Given the description of an element on the screen output the (x, y) to click on. 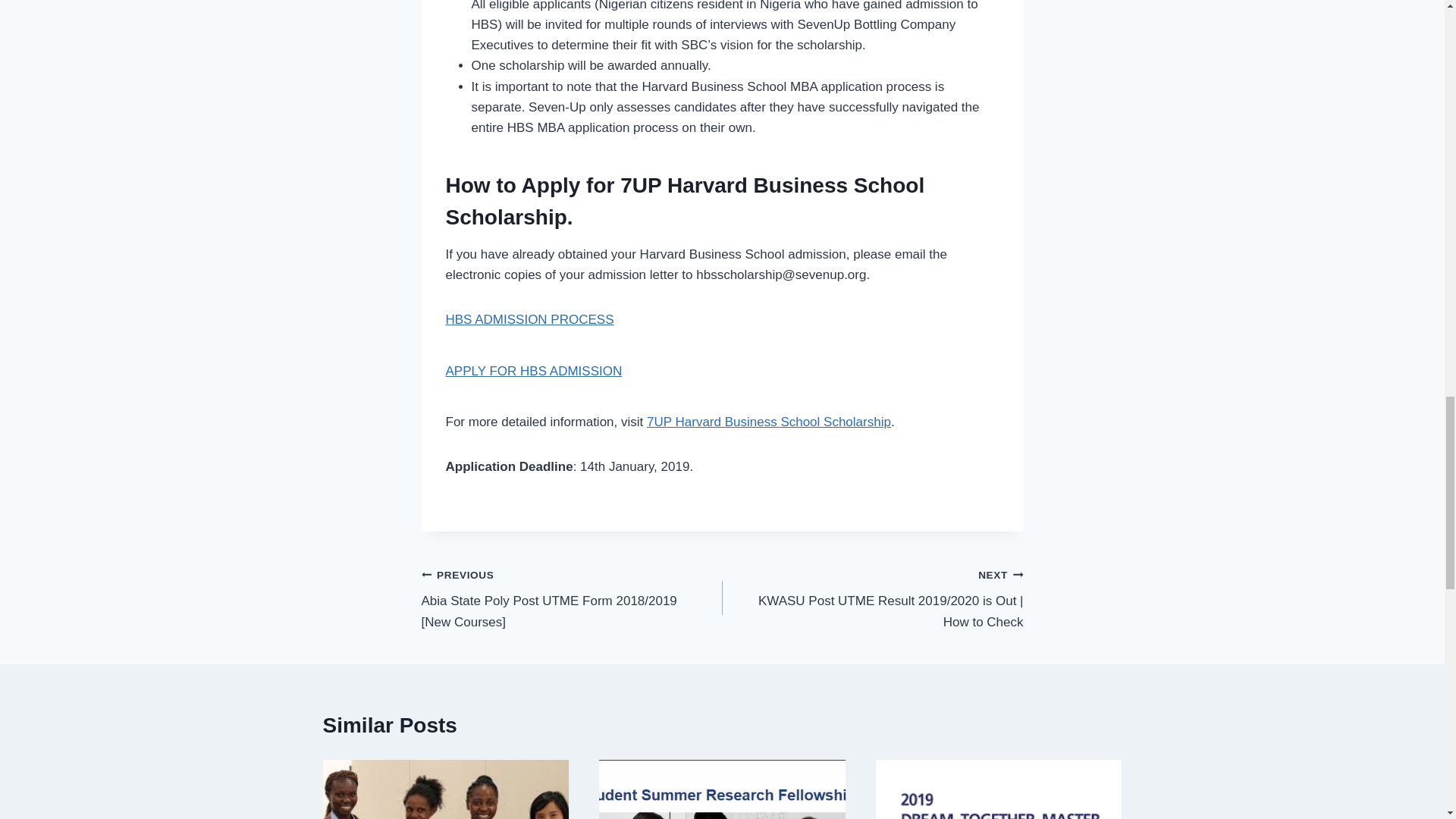
7UP Harvard Business School Scholarship (768, 421)
APPLY FOR HBS ADMISSION (534, 370)
HBS ADMISSION PROCESS (529, 319)
